Given the description of an element on the screen output the (x, y) to click on. 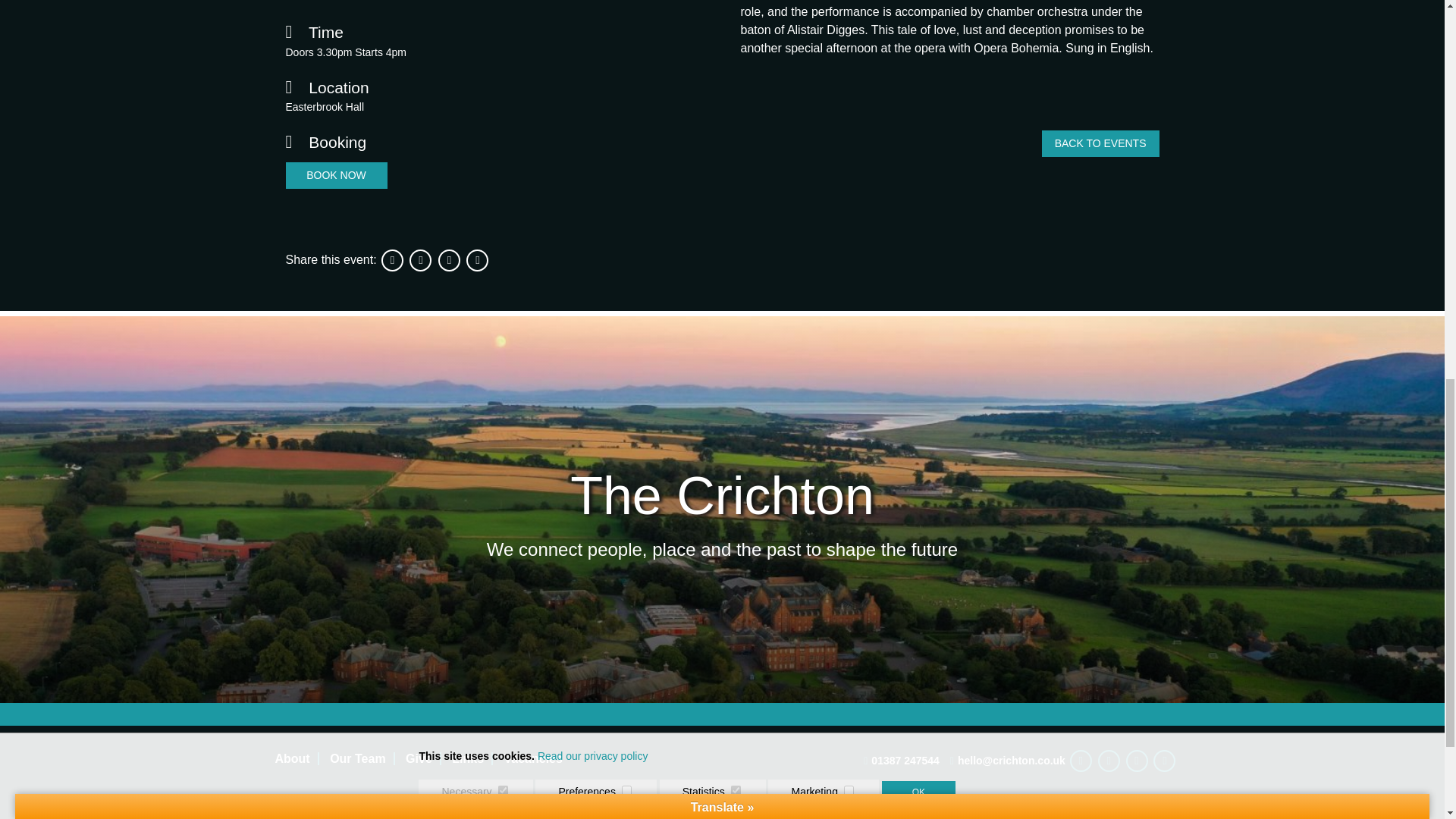
The Crichton Trust (573, 809)
Investers in people logo (713, 809)
Living Wage Logo (823, 809)
Scottish Business Pledge (900, 809)
